Given the description of an element on the screen output the (x, y) to click on. 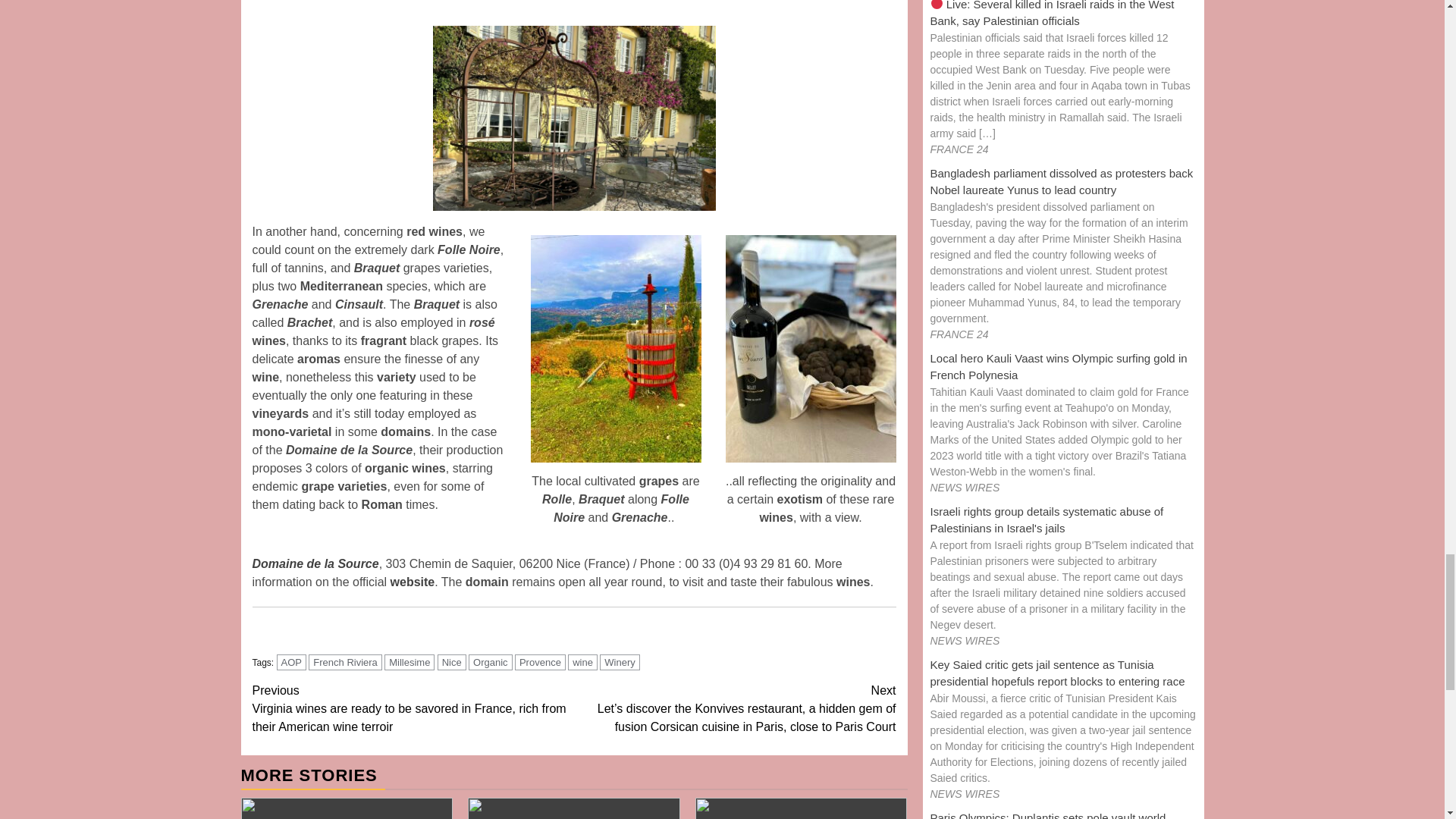
French Riviera (344, 662)
Domaine de la Source (314, 563)
AOP (290, 662)
website (412, 581)
